Given the description of an element on the screen output the (x, y) to click on. 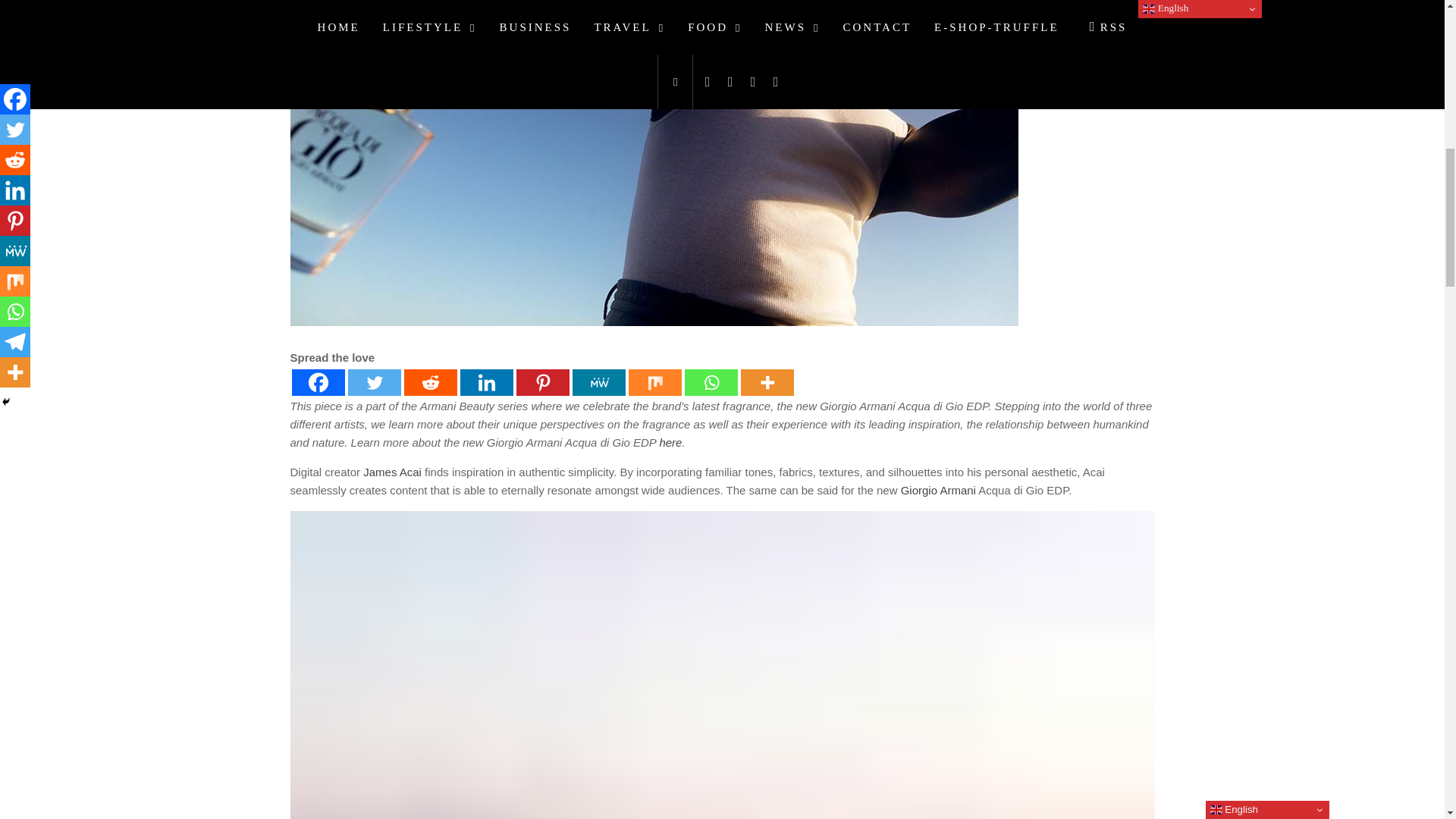
Pinterest (542, 382)
MeWe (598, 382)
Twitter (373, 382)
Linkedin (486, 382)
Whatsapp (710, 382)
Reddit (430, 382)
Mix (654, 382)
Facebook (317, 382)
More (766, 382)
